Given the description of an element on the screen output the (x, y) to click on. 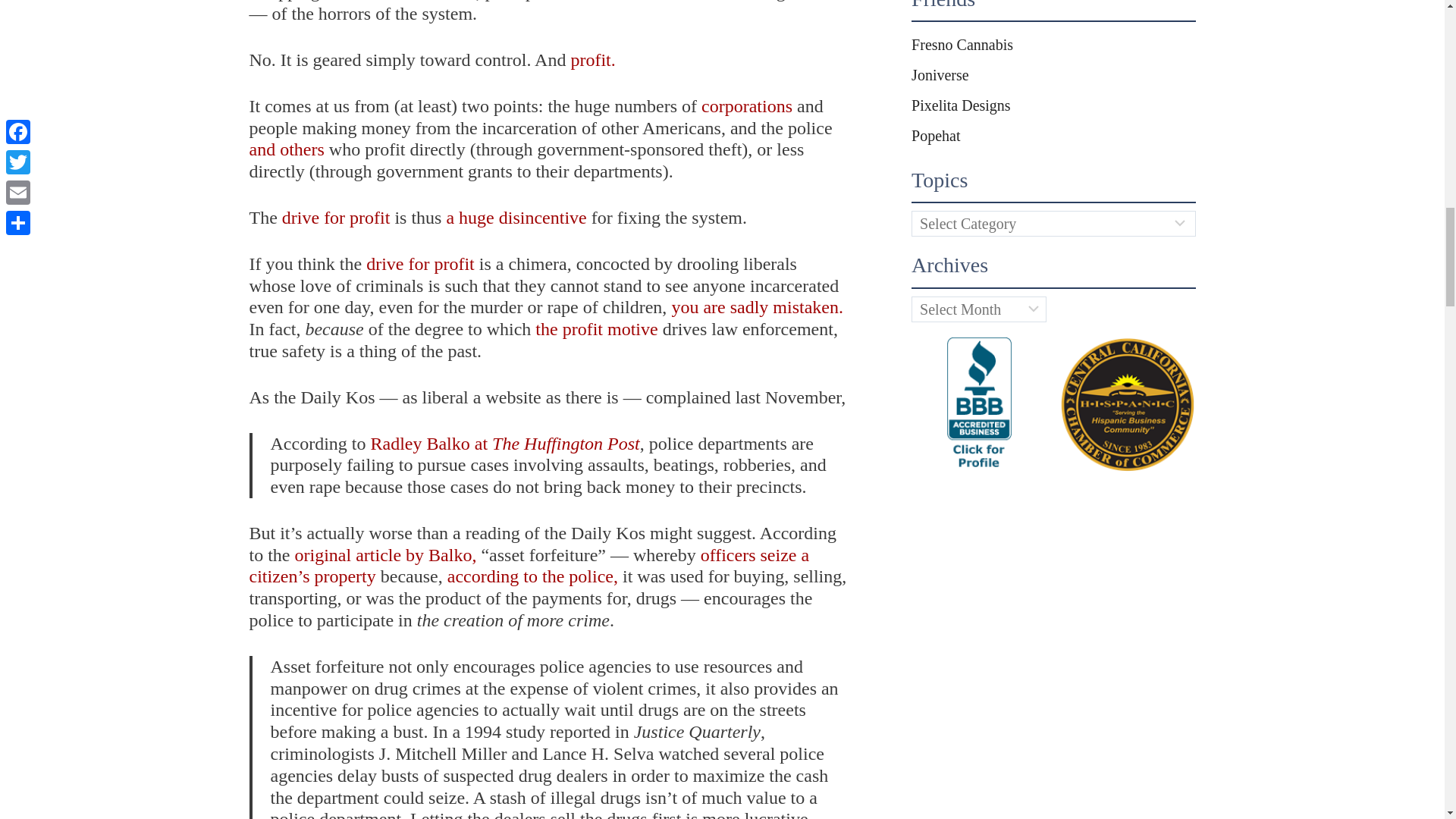
the profit motive (596, 329)
according to the police, (531, 576)
drive for profit (420, 263)
Radley Balko at The Huffington Post (504, 443)
The Prison Industrial Complex (746, 106)
Prison Reform: People vs. Profit? (596, 329)
original article by Balko, (385, 555)
drive for profit (336, 217)
